Given the description of an element on the screen output the (x, y) to click on. 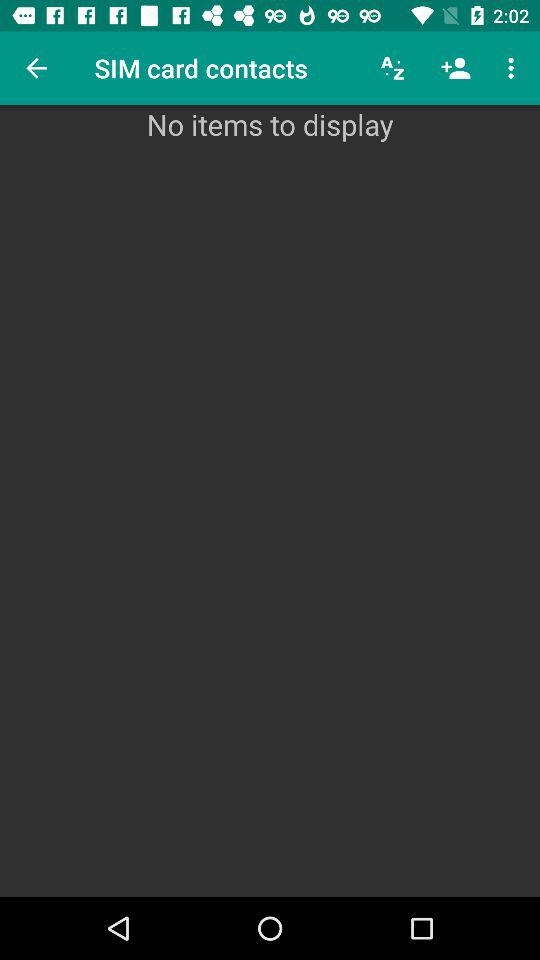
open icon above the no items to item (392, 67)
